Given the description of an element on the screen output the (x, y) to click on. 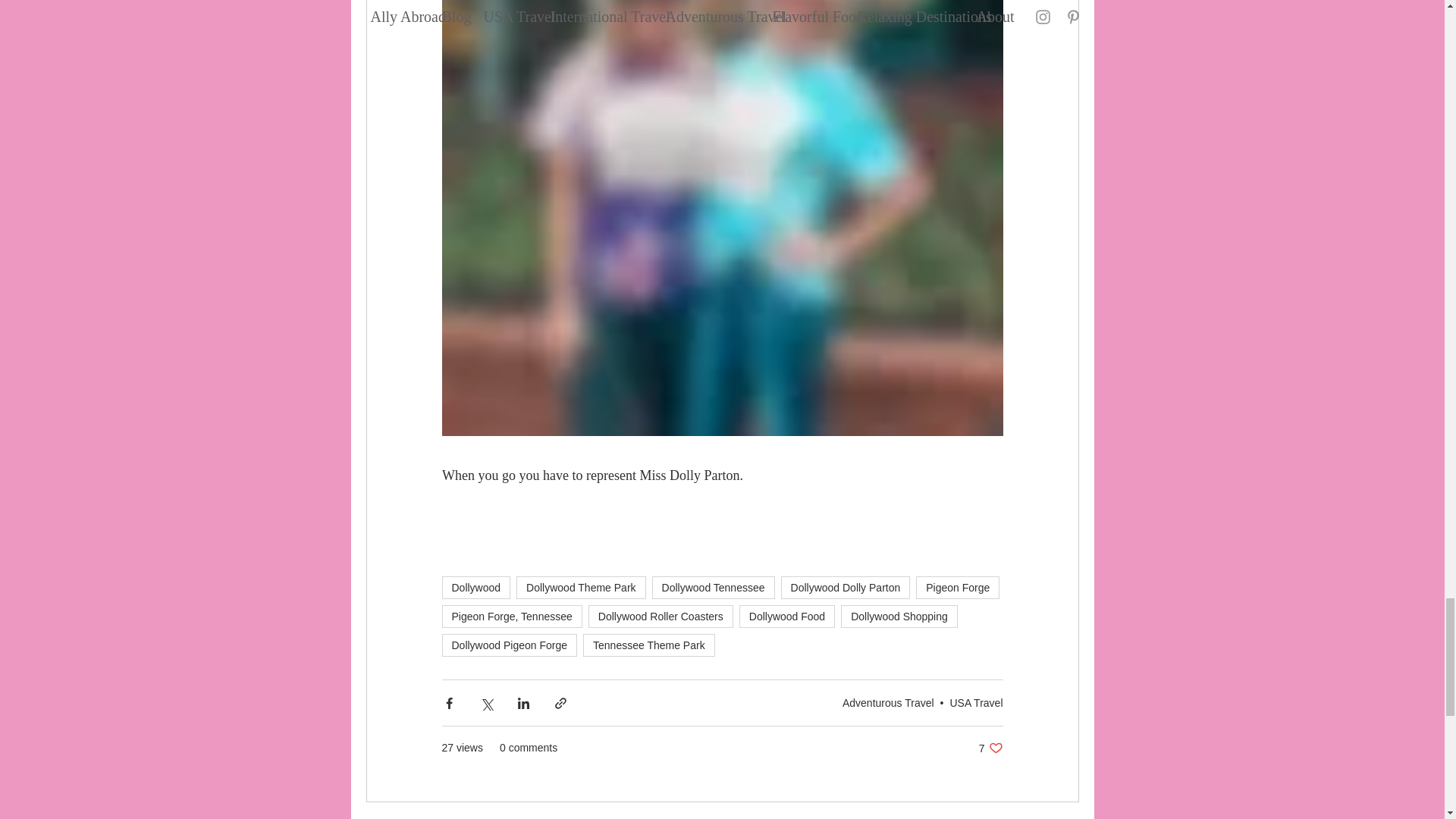
Dollywood Tennessee (713, 587)
Dollywood Dolly Parton (845, 587)
Adventurous Travel (888, 702)
Dollywood (476, 587)
Dollywood Pigeon Forge (508, 644)
USA Travel (976, 702)
Pigeon Forge, Tennessee (510, 616)
Tennessee Theme Park (648, 644)
Dollywood Roller Coasters (660, 616)
Pigeon Forge (956, 587)
Dollywood Theme Park (580, 587)
Dollywood Food (786, 616)
Dollywood Shopping (899, 616)
